Given the description of an element on the screen output the (x, y) to click on. 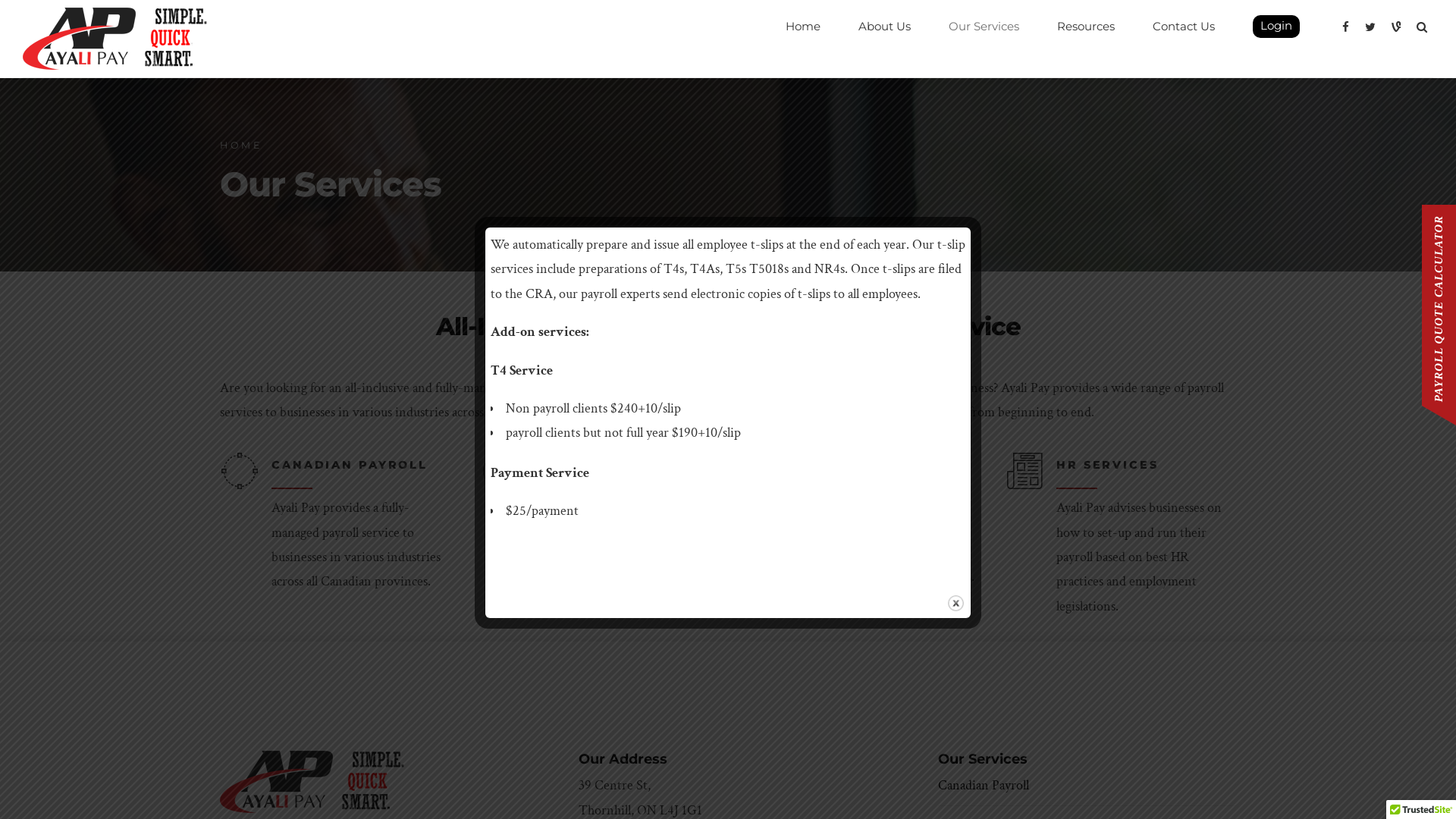
Contact Us Element type: text (1183, 26)
Login Element type: text (1275, 26)
Our Services Element type: text (983, 26)
Home Element type: text (802, 26)
About Us Element type: text (884, 26)
HOME Element type: text (240, 145)
Resources Element type: text (1085, 26)
Canadian Payroll Element type: text (983, 784)
